Given the description of an element on the screen output the (x, y) to click on. 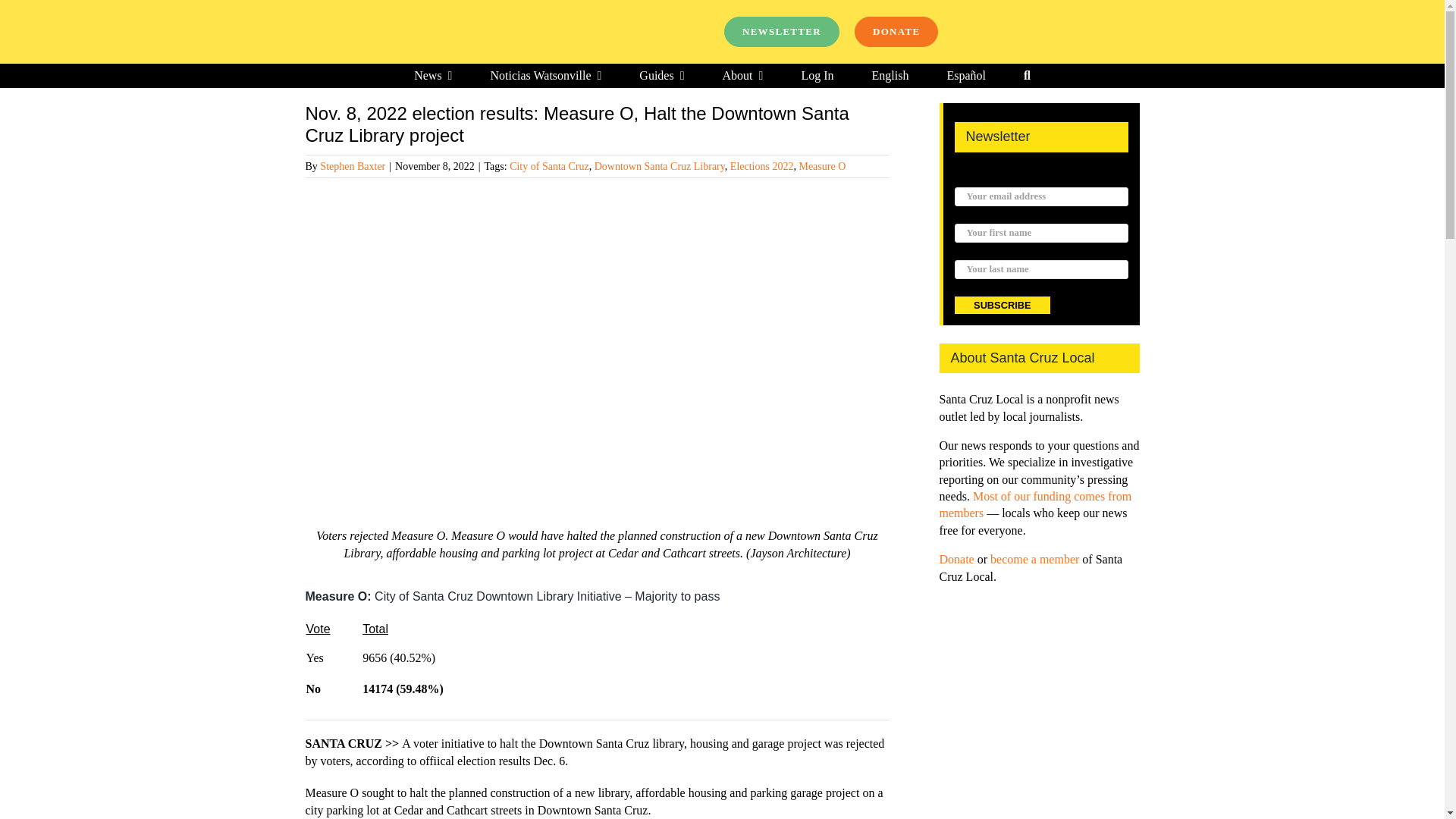
News (432, 75)
DONATE (895, 31)
NEWSLETTER (781, 31)
English (889, 75)
